Given the description of an element on the screen output the (x, y) to click on. 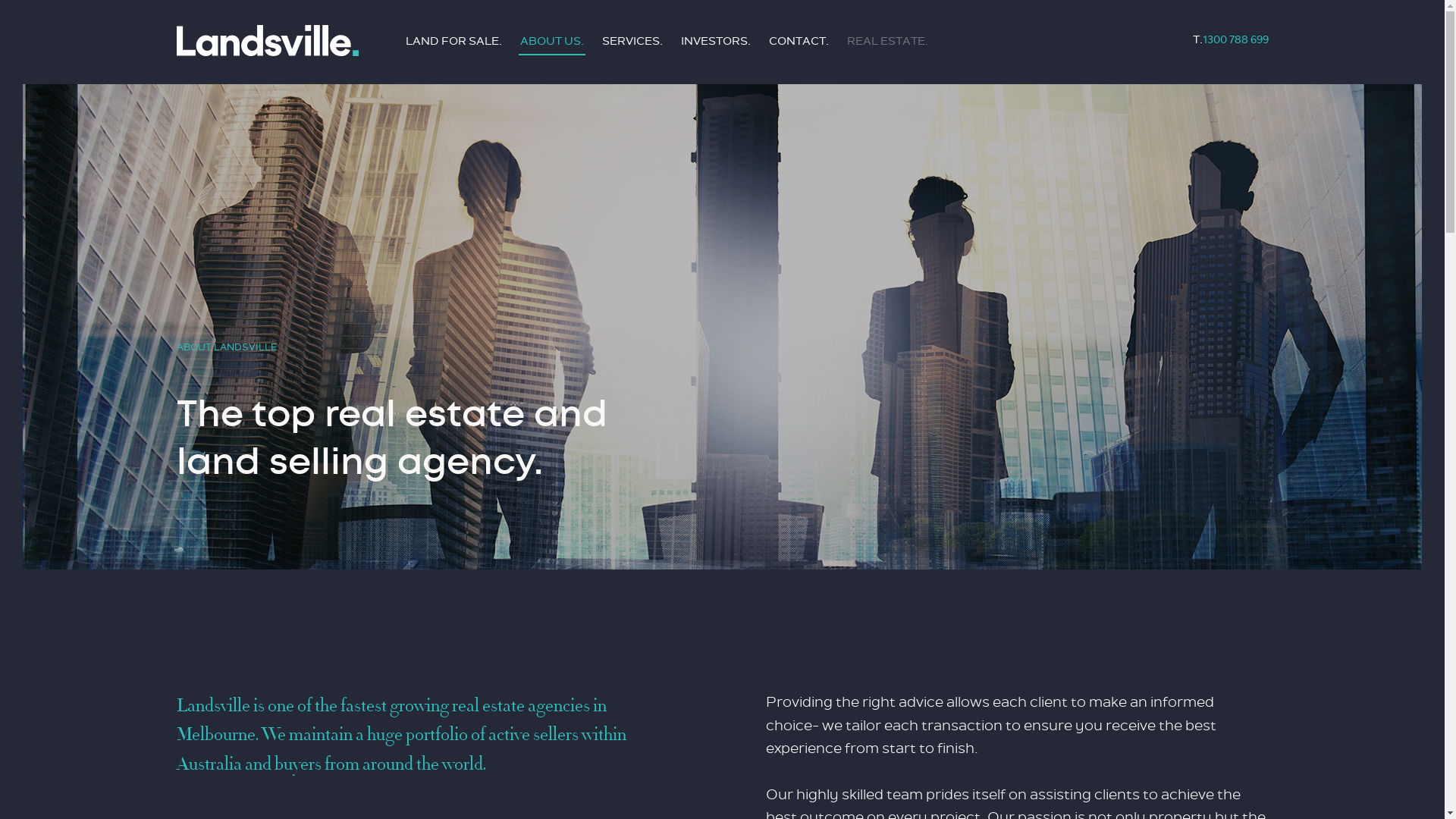
SERVICES. Element type: text (632, 40)
1300 788 699 Element type: text (1235, 39)
CONTACT. Element type: text (798, 40)
REAL ESTATE. Element type: text (886, 40)
LAND FOR SALE. Element type: text (452, 40)
INVESTORS. Element type: text (715, 40)
ABOUT US. Element type: text (551, 40)
